Given the description of an element on the screen output the (x, y) to click on. 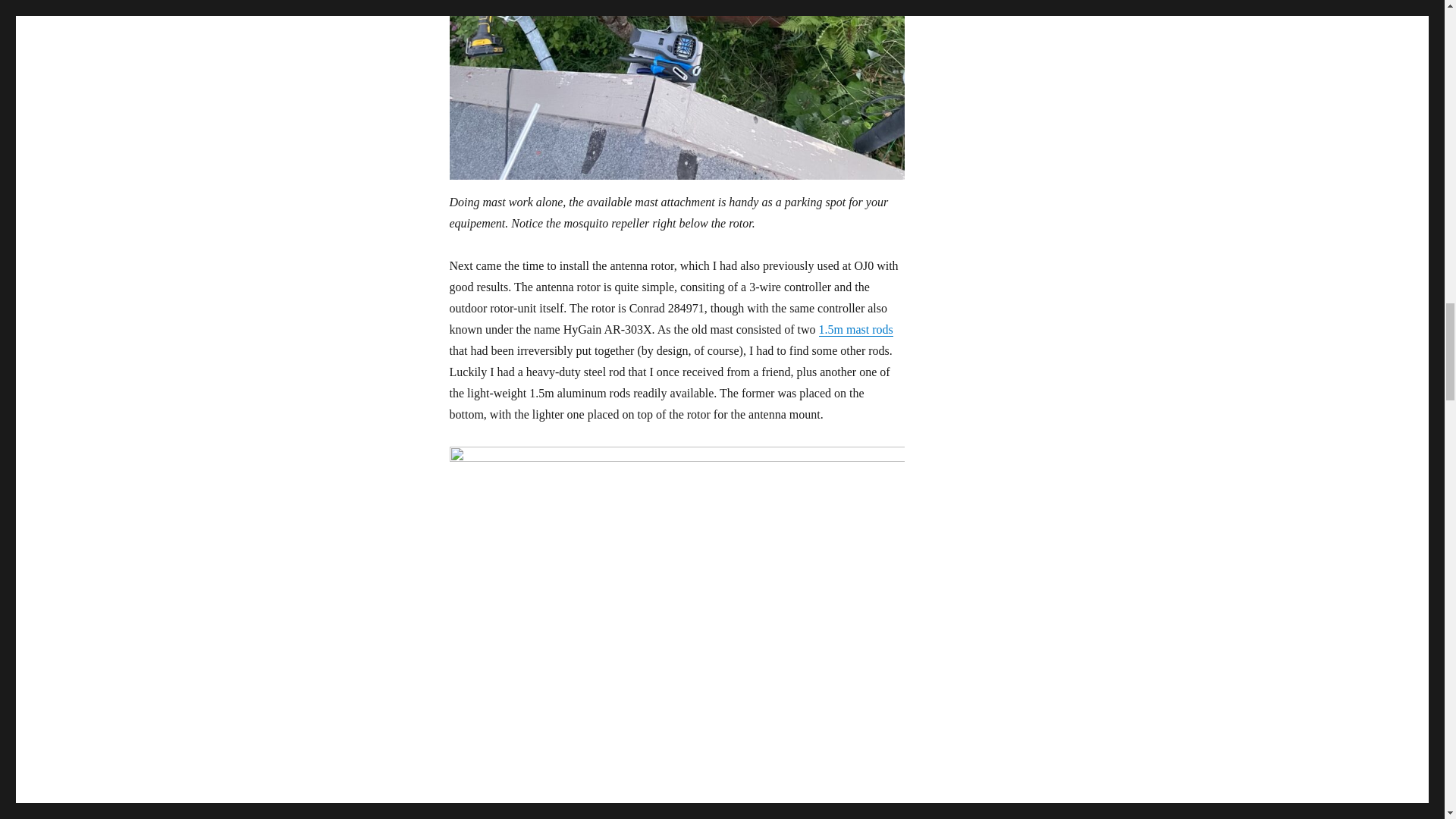
1.5m mast rods (855, 328)
